Given the description of an element on the screen output the (x, y) to click on. 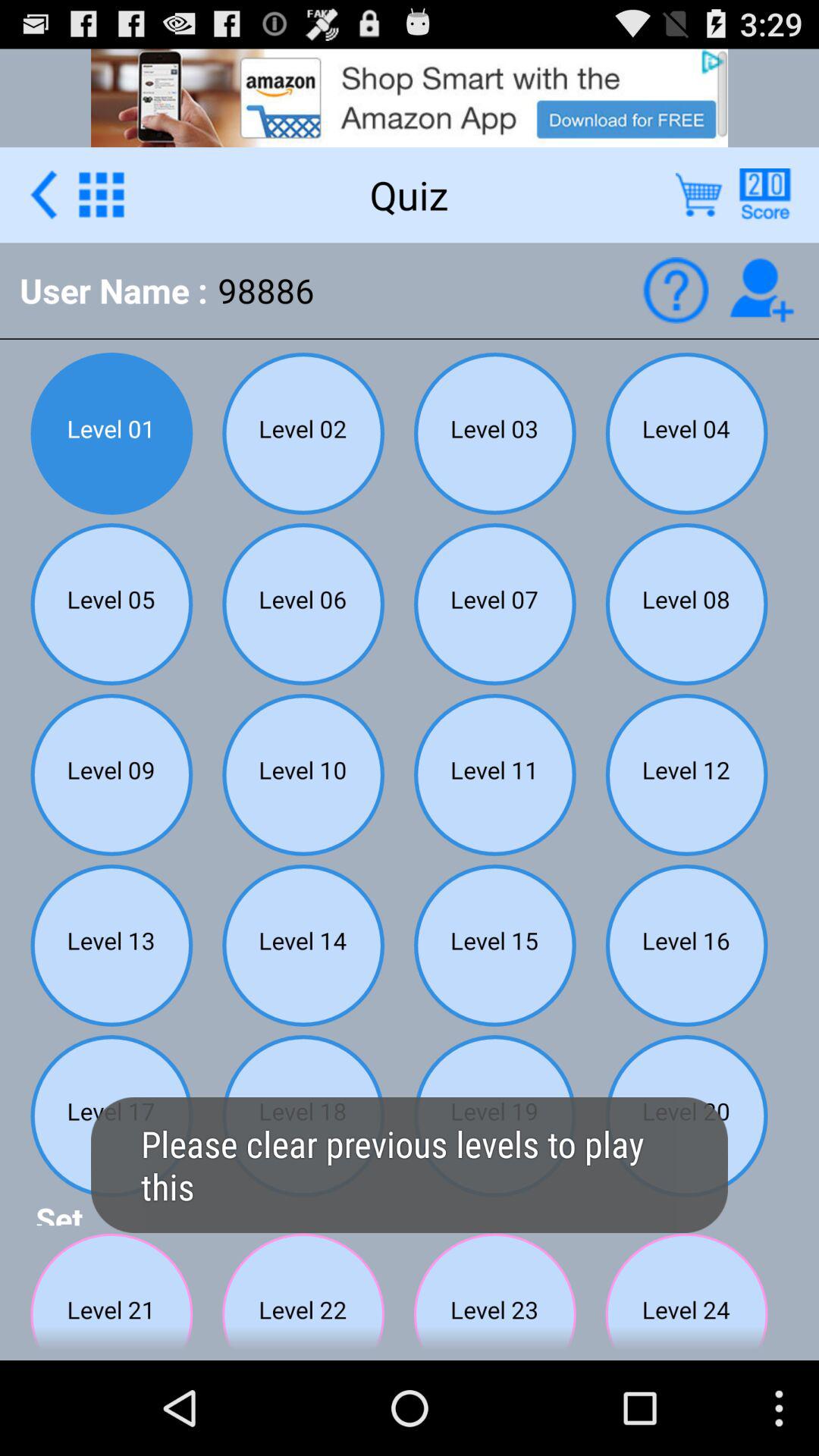
open store (698, 194)
